Given the description of an element on the screen output the (x, y) to click on. 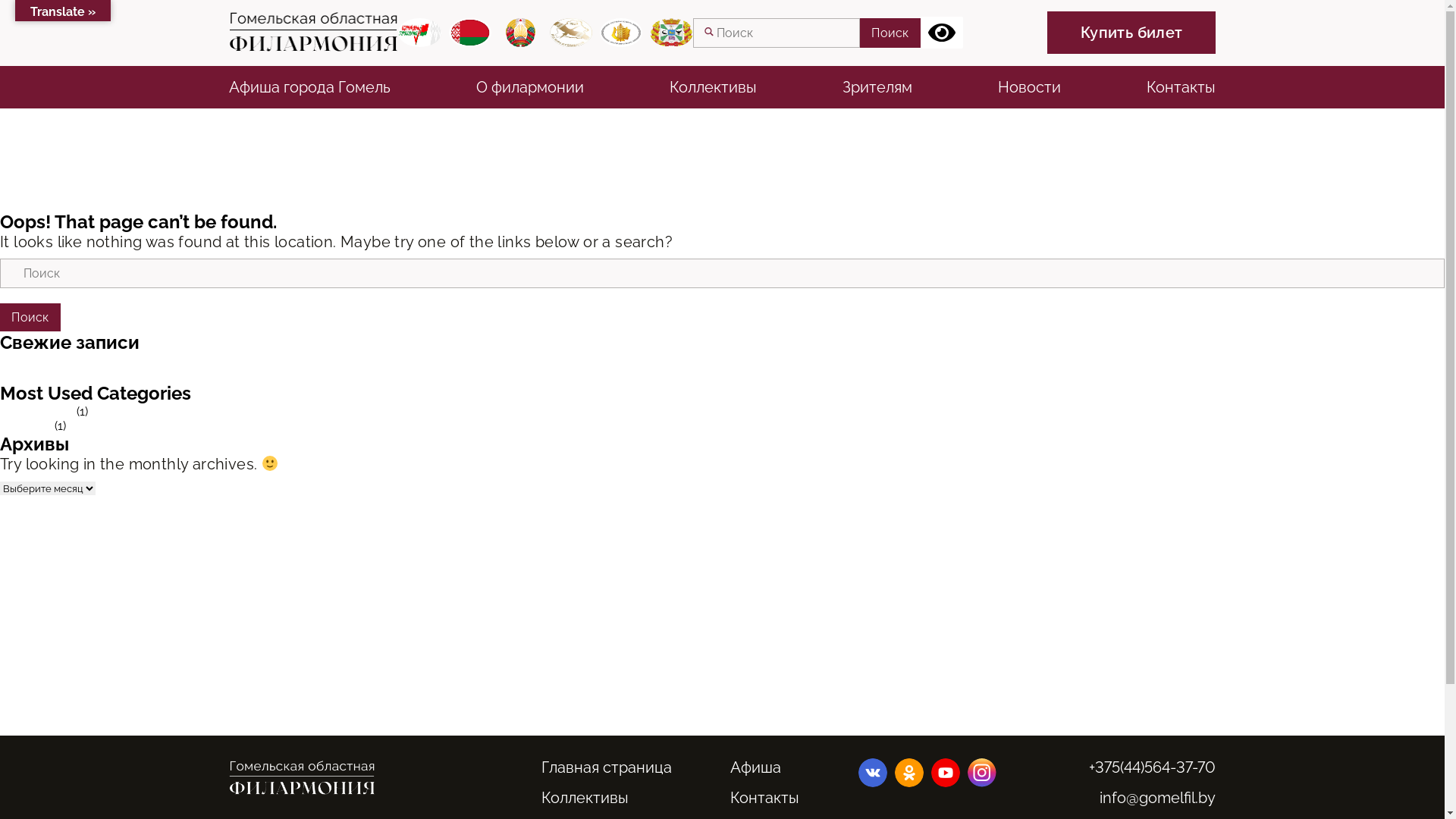
+375(44)564-37-70 Element type: text (1151, 767)
info@gomelfil.by Element type: text (1157, 797)
